Given the description of an element on the screen output the (x, y) to click on. 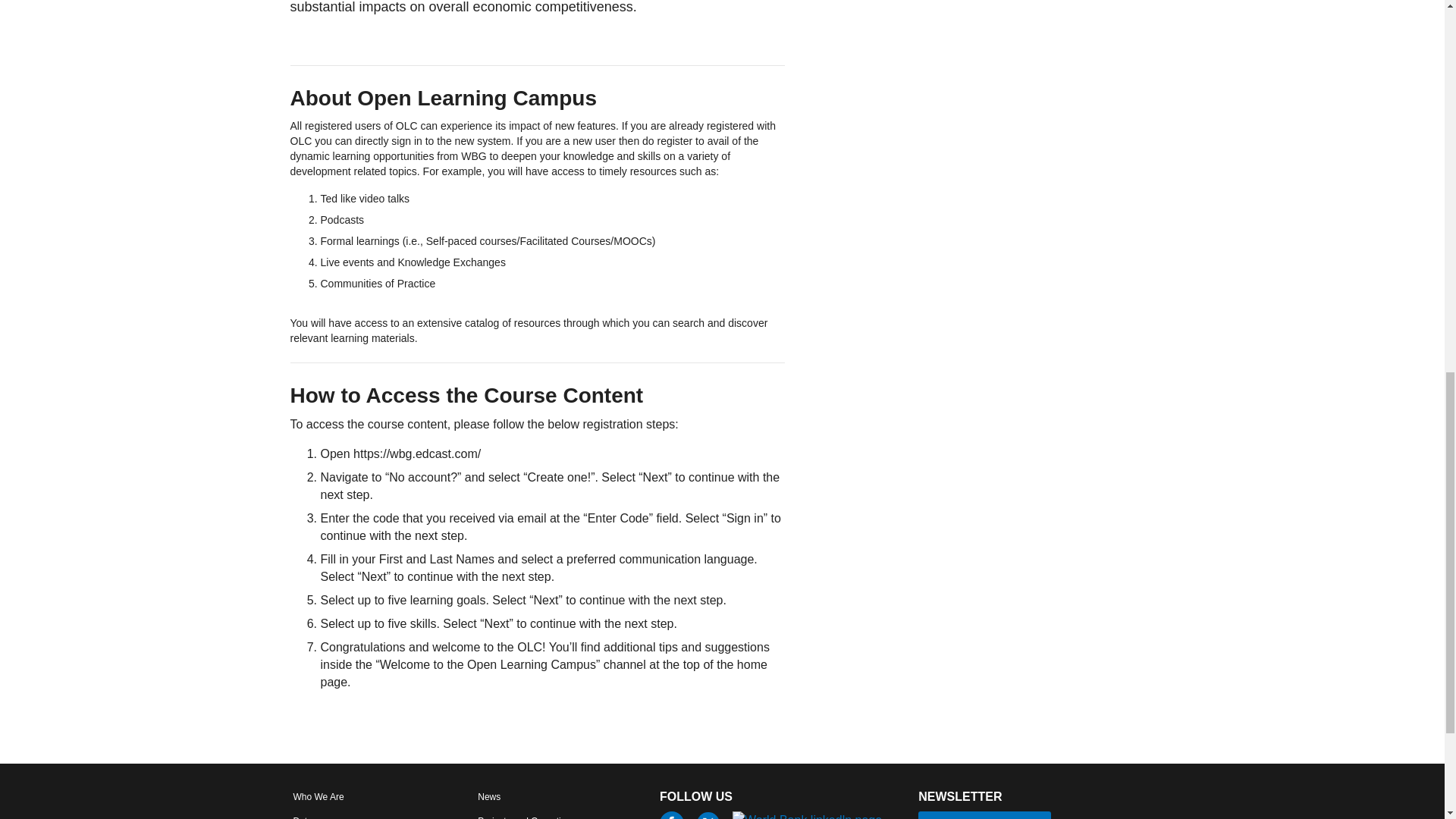
News (488, 796)
Projects and Operations (526, 816)
Data (301, 816)
SUBSCRIBE HERE (984, 815)
Who We Are (317, 796)
